Given the description of an element on the screen output the (x, y) to click on. 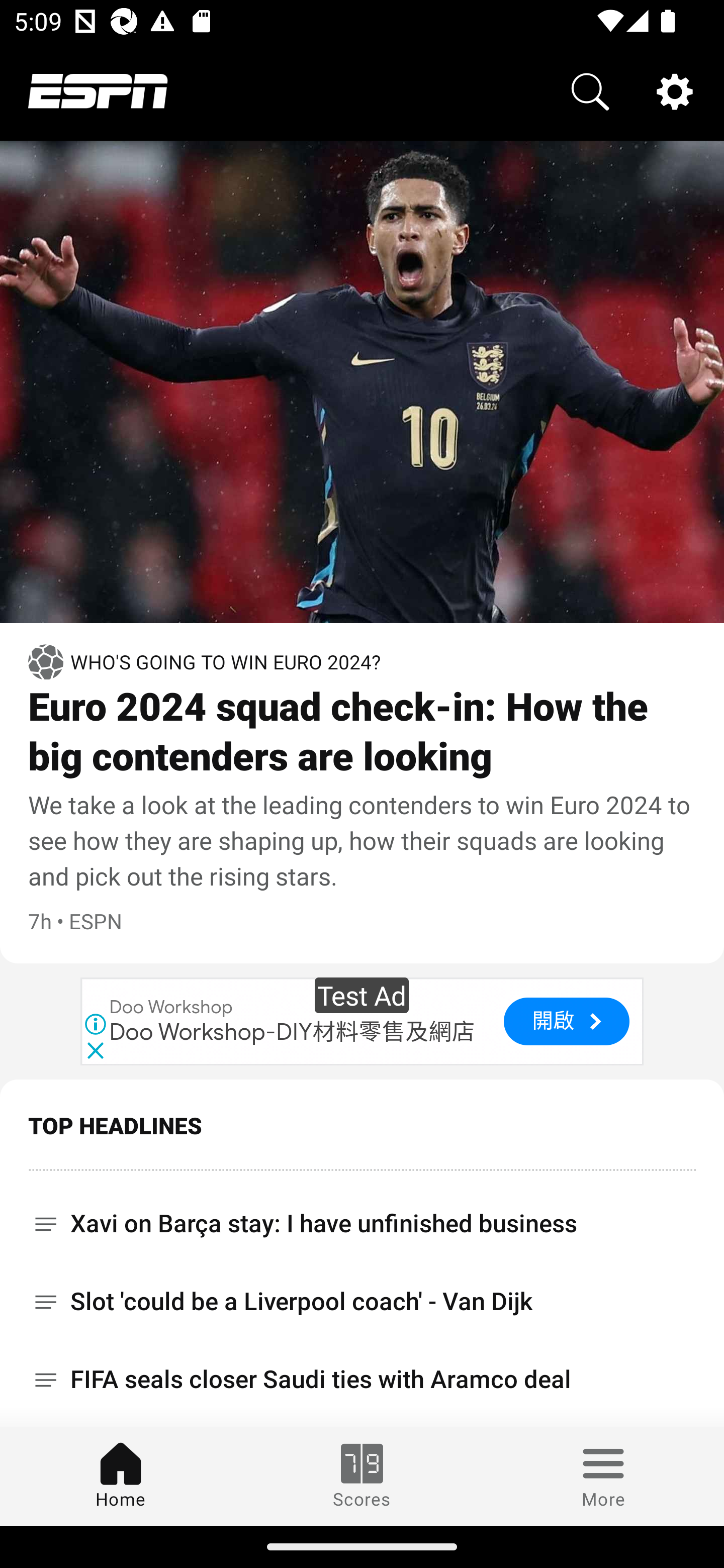
Search (590, 90)
Settings (674, 90)
 Xavi on Barça stay: I have unfinished business (362, 1216)
 Slot 'could be a Liverpool coach' - Van Dijk (362, 1301)
 FIFA seals closer Saudi ties with Aramco deal (362, 1379)
Scores (361, 1475)
More (603, 1475)
